Given the description of an element on the screen output the (x, y) to click on. 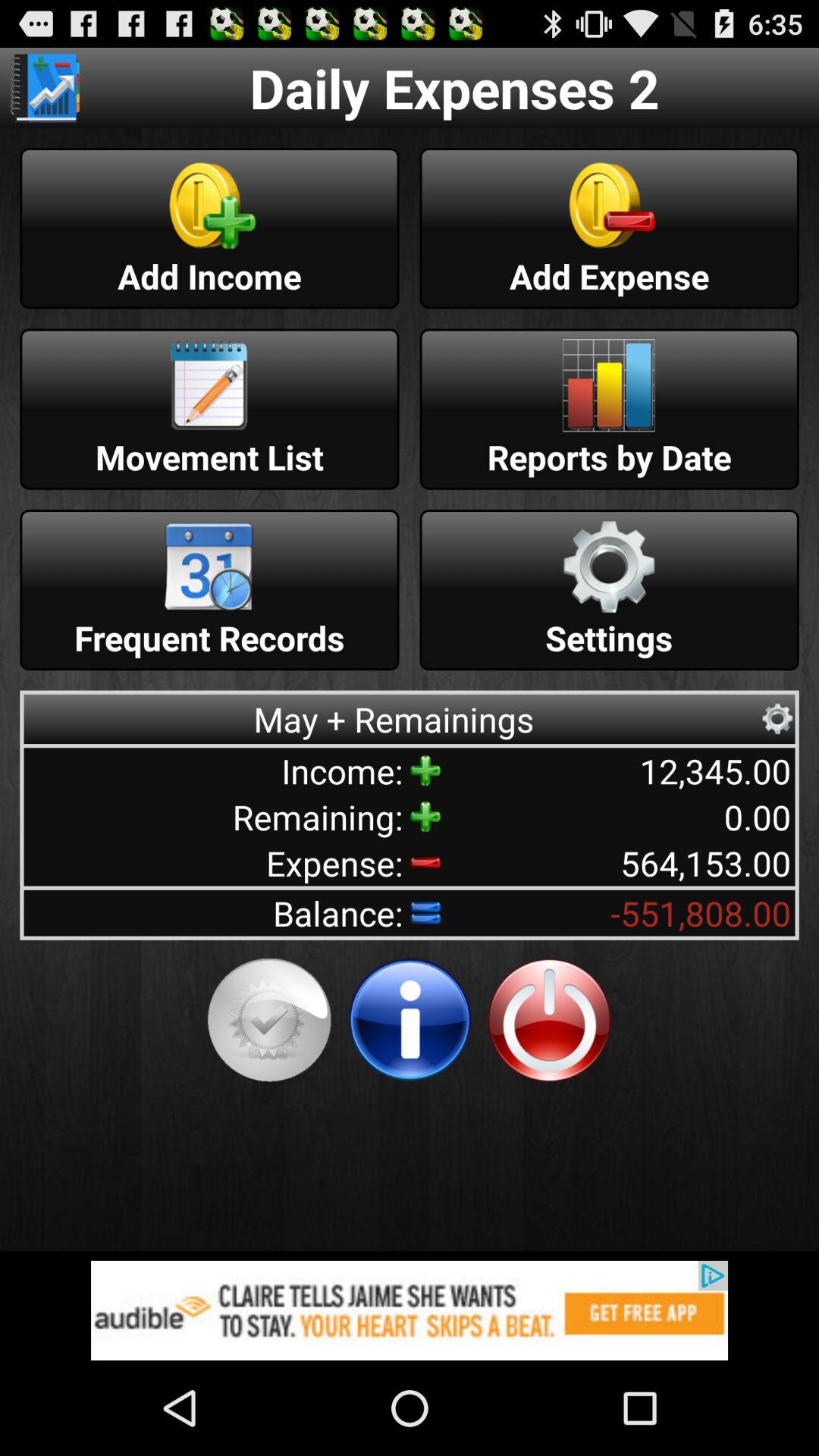
turn it off (549, 1020)
